Given the description of an element on the screen output the (x, y) to click on. 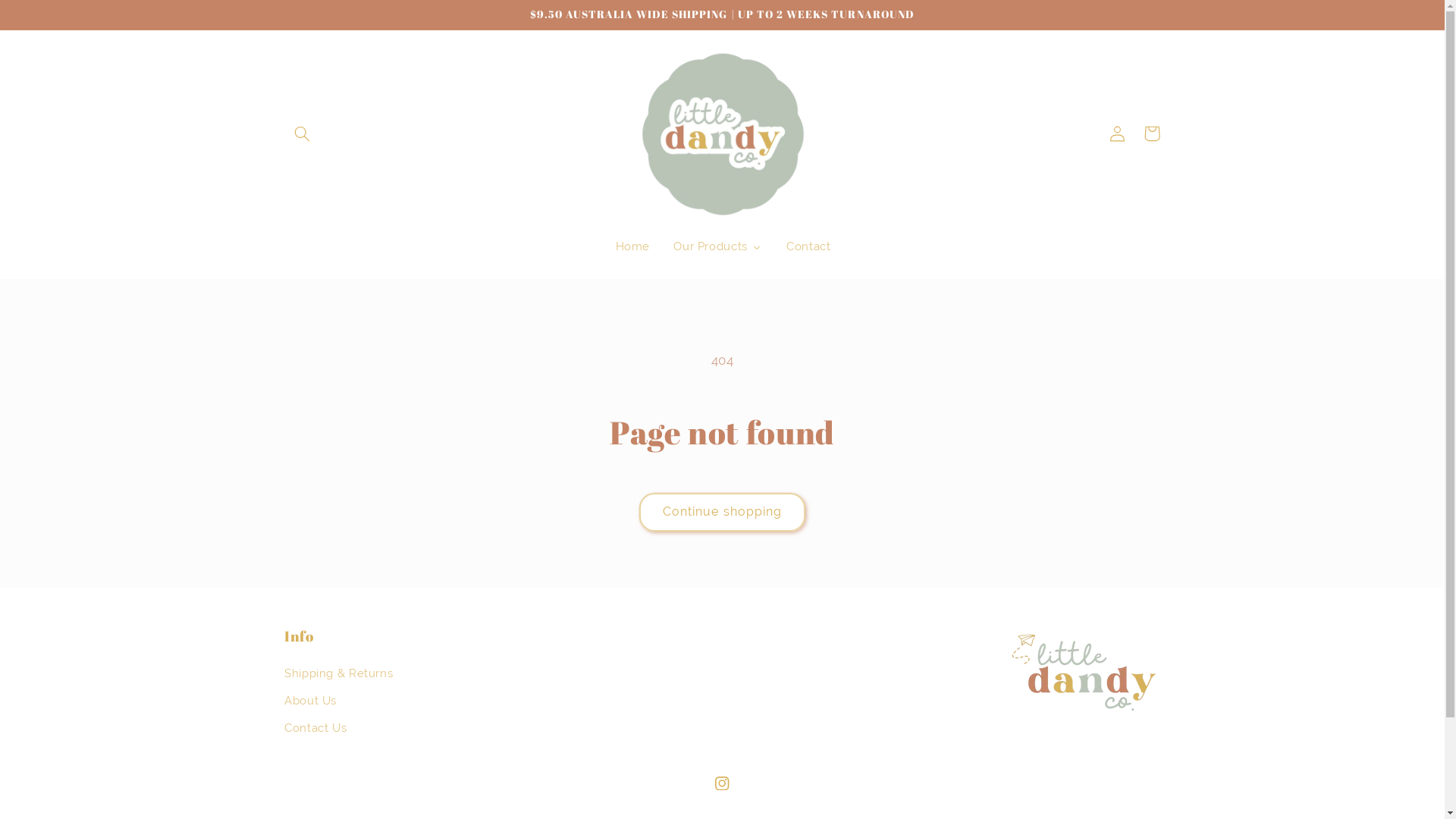
Shipping & Returns Element type: text (338, 675)
About Us Element type: text (310, 700)
Cart Element type: text (1151, 133)
Our Products Element type: text (717, 246)
Contact Us Element type: text (315, 727)
Log in Element type: text (1116, 133)
Home Element type: text (631, 246)
Continue shopping Element type: text (722, 511)
Instagram Element type: text (721, 782)
Contact Element type: text (807, 246)
